Given the description of an element on the screen output the (x, y) to click on. 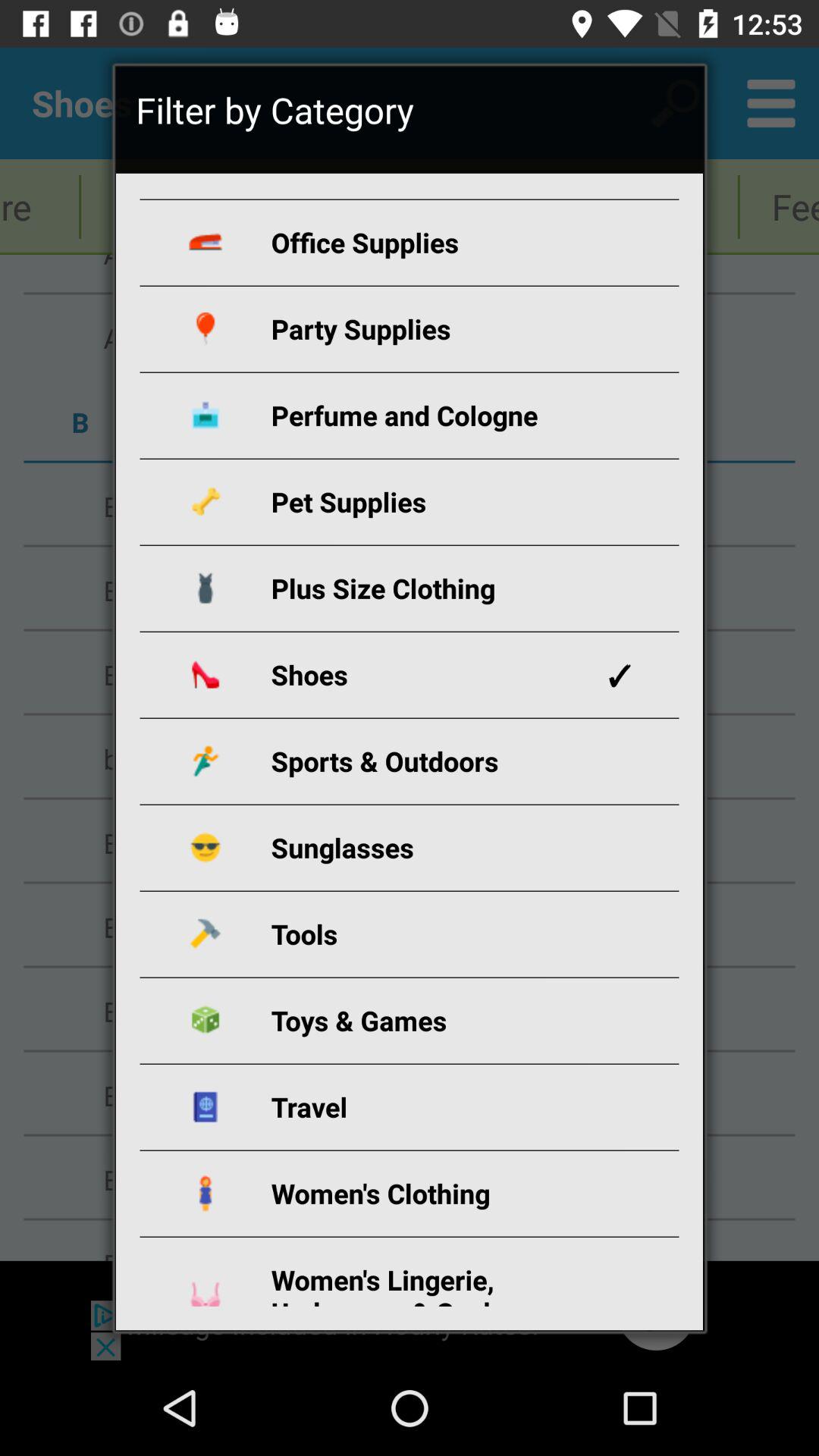
press the travel icon (427, 1106)
